Given the description of an element on the screen output the (x, y) to click on. 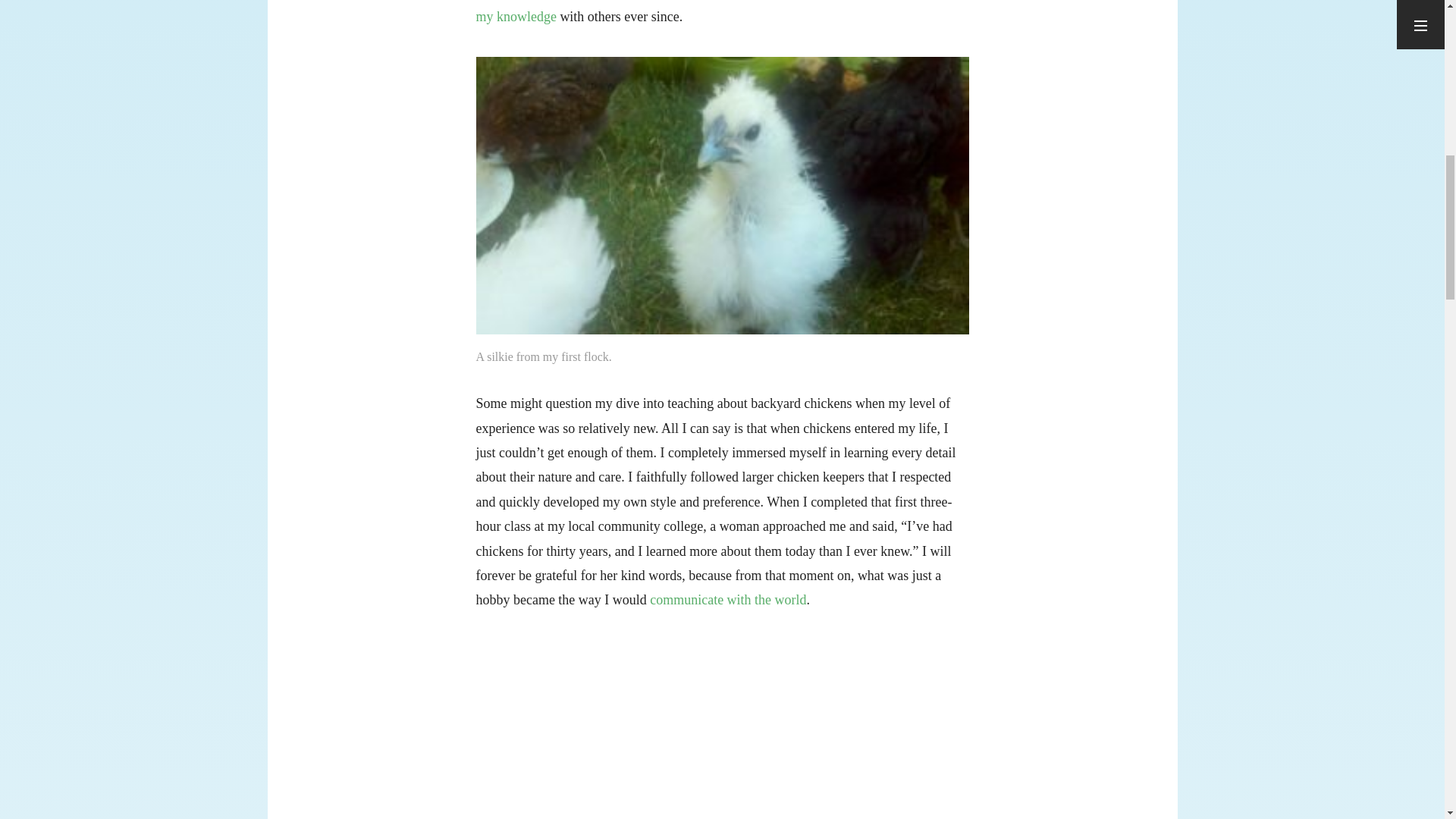
communicate with the world (727, 599)
share my knowledge (716, 12)
